Given the description of an element on the screen output the (x, y) to click on. 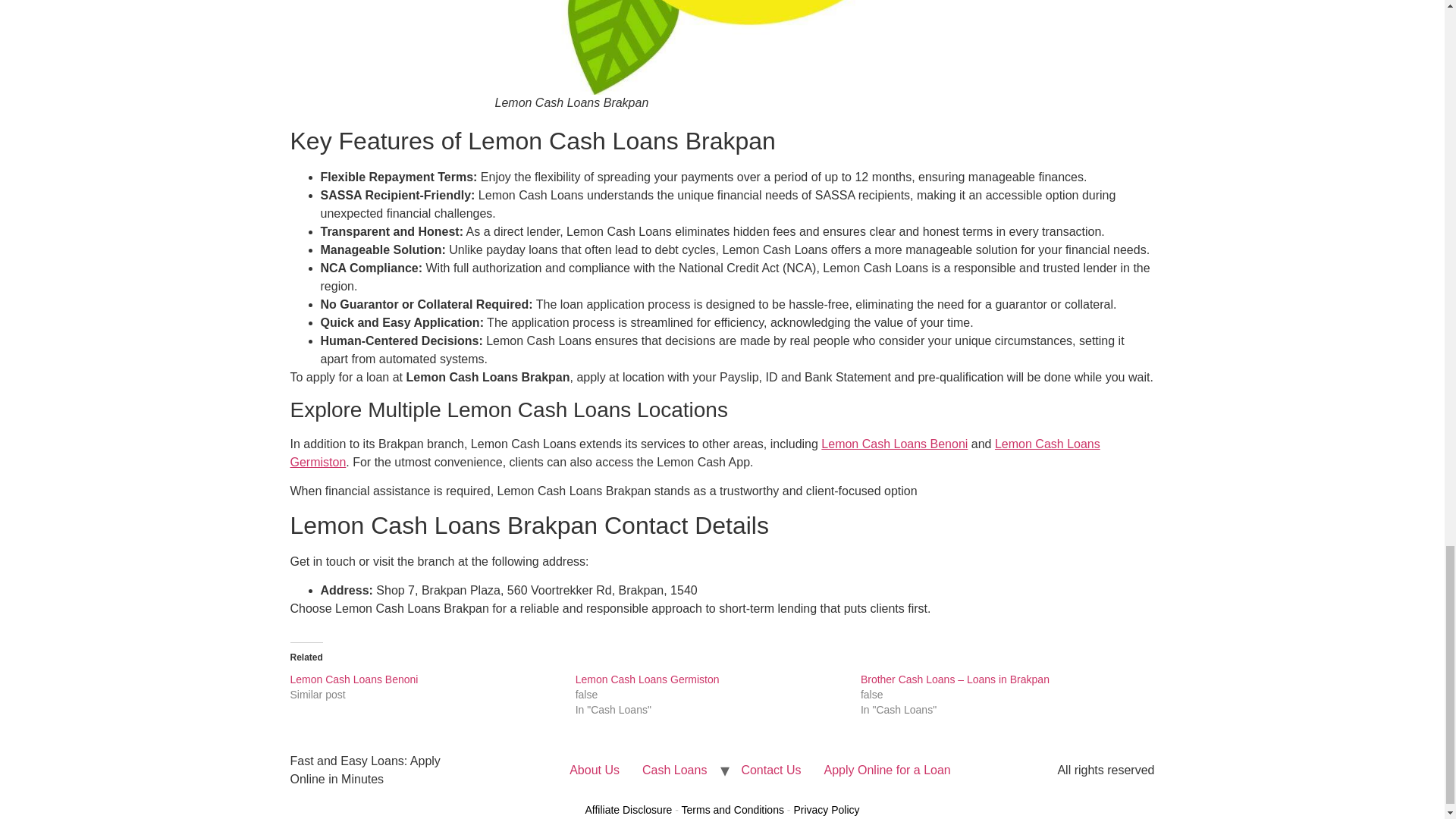
Affiliate Disclosure (628, 809)
Lemon Cash Loans Germiston (647, 679)
Terms and Conditions (732, 809)
Cash Loans (673, 769)
Lemon Cash Loans Germiston (694, 452)
Lemon Cash Loans Benoni (894, 443)
Contact Us (770, 769)
Privacy Policy (826, 809)
About Us (593, 769)
Apply Online for a Loan (887, 769)
Lemon Cash Loans Benoni (353, 679)
Lemon Cash Loans Benoni (353, 679)
Lemon Cash Loans Germiston (647, 679)
